Given the description of an element on the screen output the (x, y) to click on. 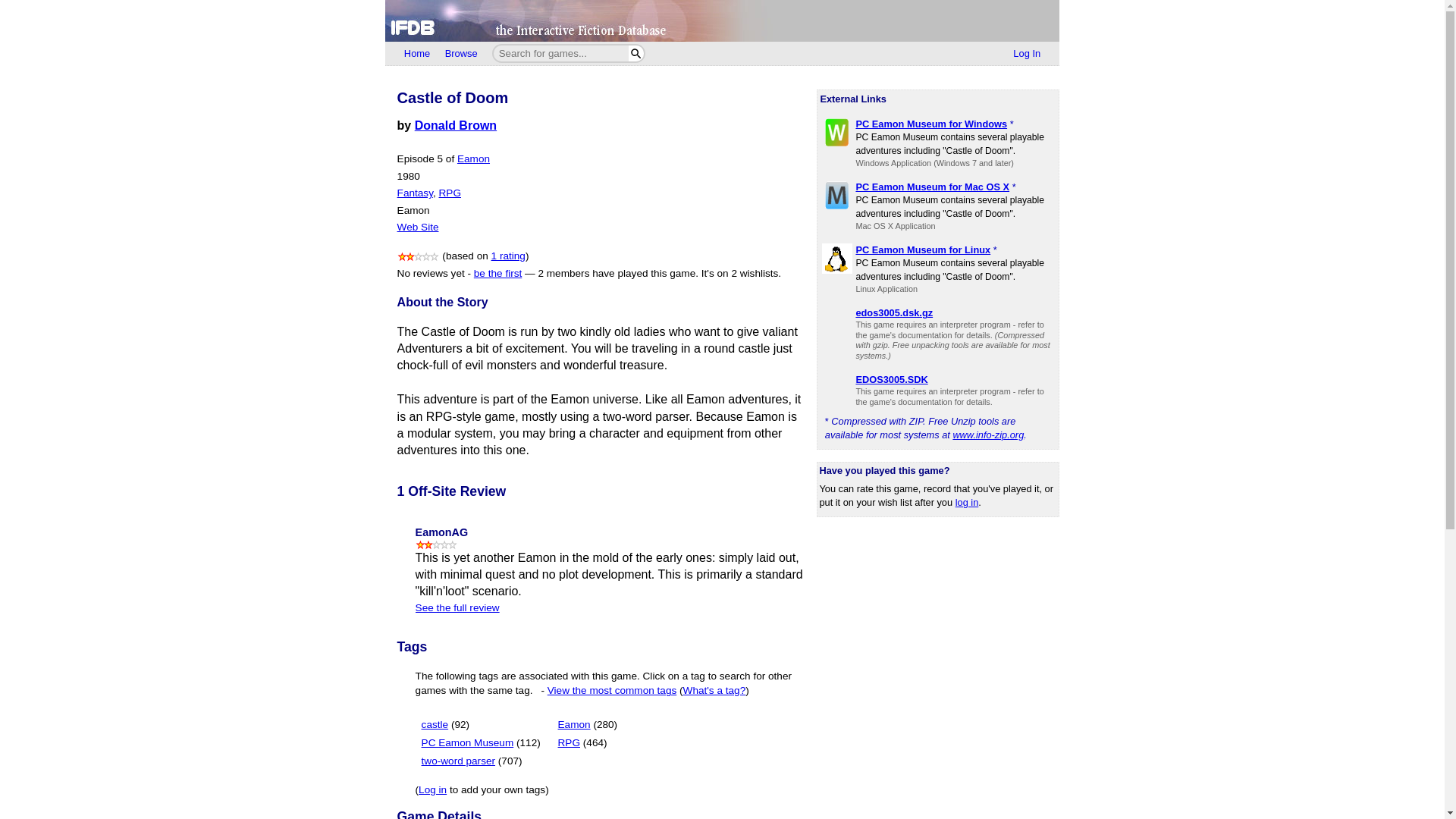
464 games have this tag (595, 742)
EDOS3005.SDK (891, 378)
Fantasy (414, 193)
View all ratings and reviews for this game (508, 255)
2 members have played this game. (617, 273)
280 games have this tag (604, 724)
PC Eamon Museum for Windows (931, 123)
Web Site (418, 226)
castle (435, 724)
See the full review (456, 607)
